Given the description of an element on the screen output the (x, y) to click on. 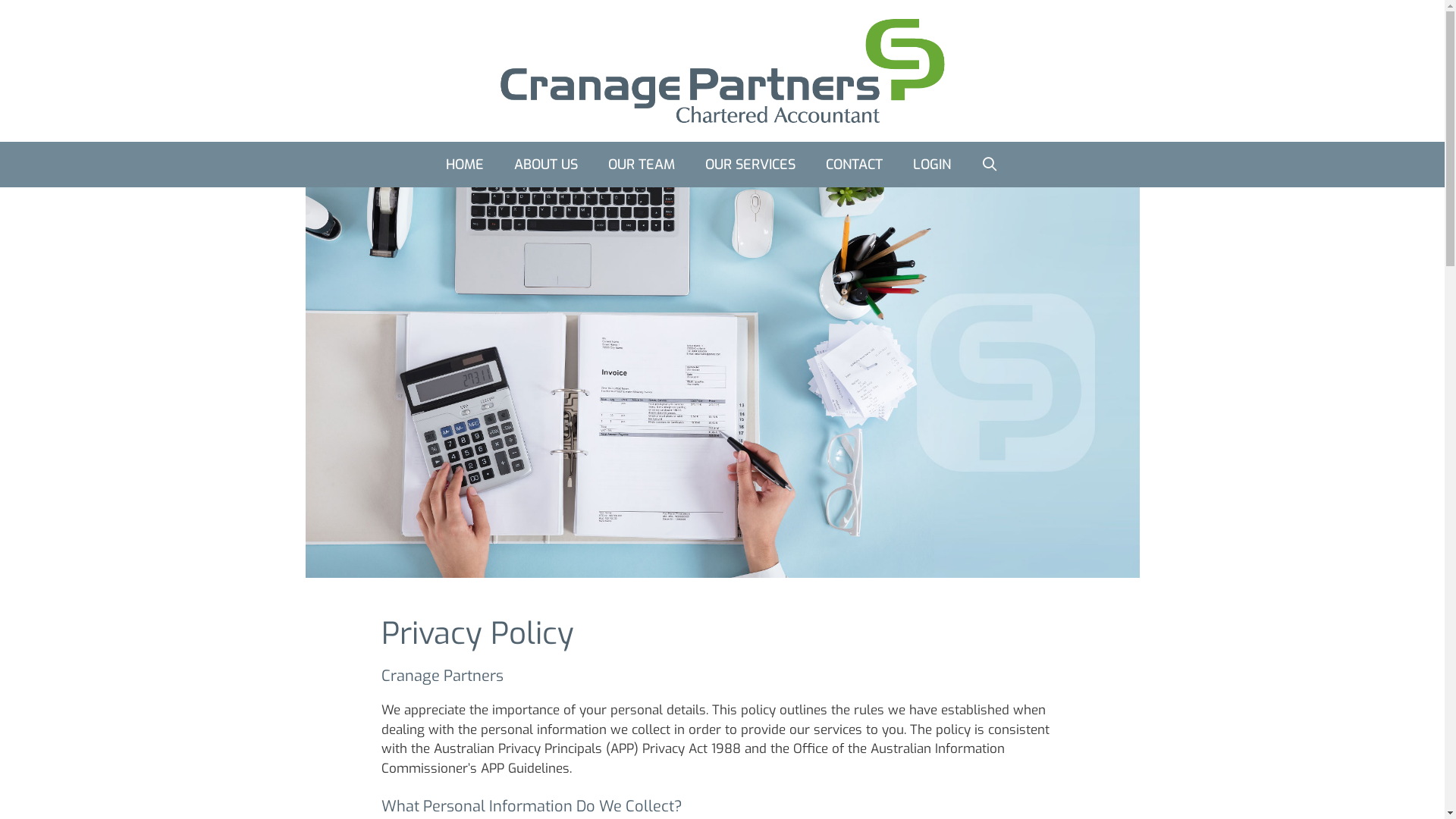
ABOUT US Element type: text (545, 164)
CONTACT Element type: text (853, 164)
OUR TEAM Element type: text (641, 164)
OUR SERVICES Element type: text (750, 164)
LOGIN Element type: text (931, 164)
HOME Element type: text (464, 164)
